Given the description of an element on the screen output the (x, y) to click on. 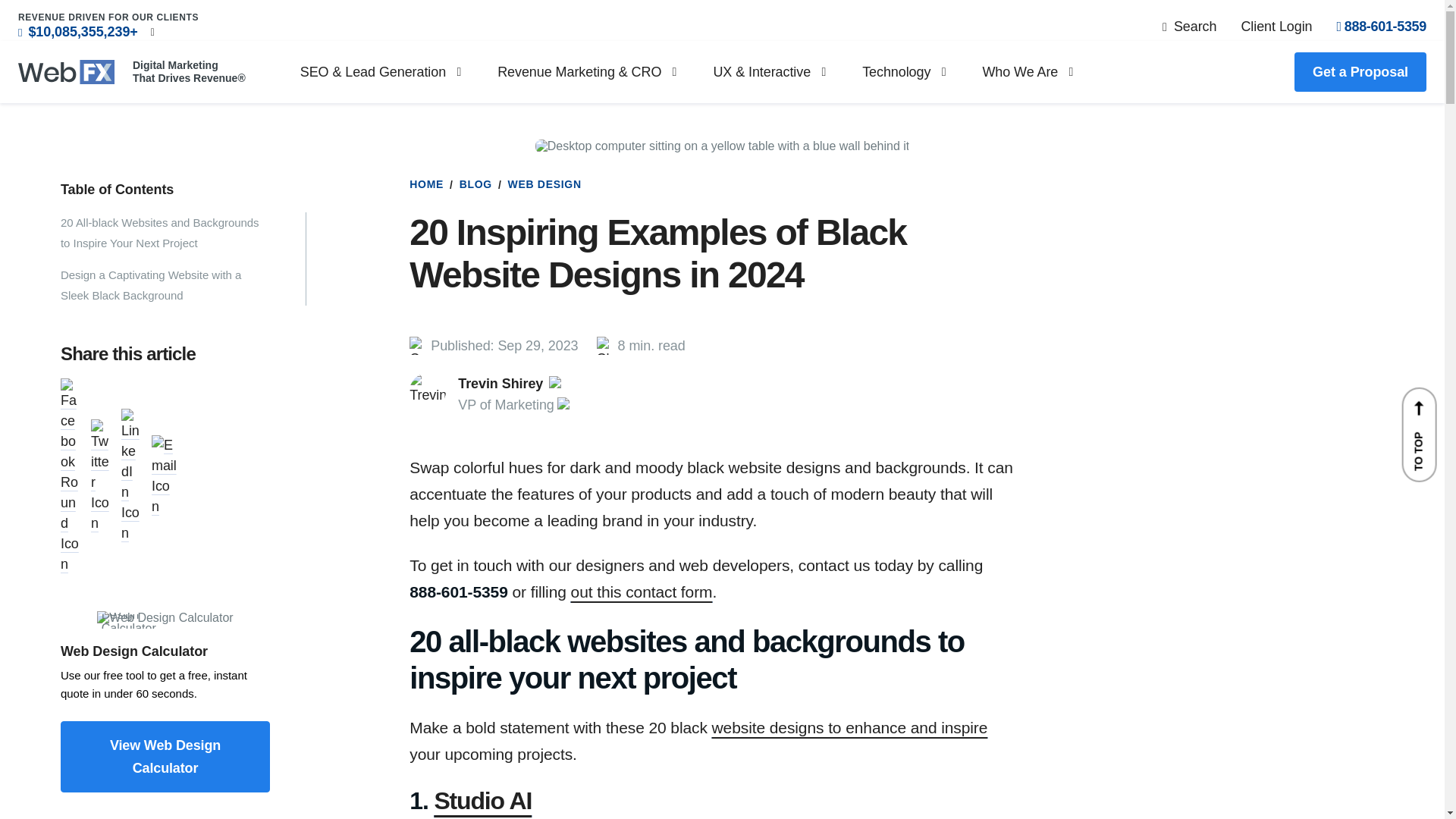
Search (1189, 26)
Client Login (1275, 26)
888-601-5359 (1381, 26)
